Given the description of an element on the screen output the (x, y) to click on. 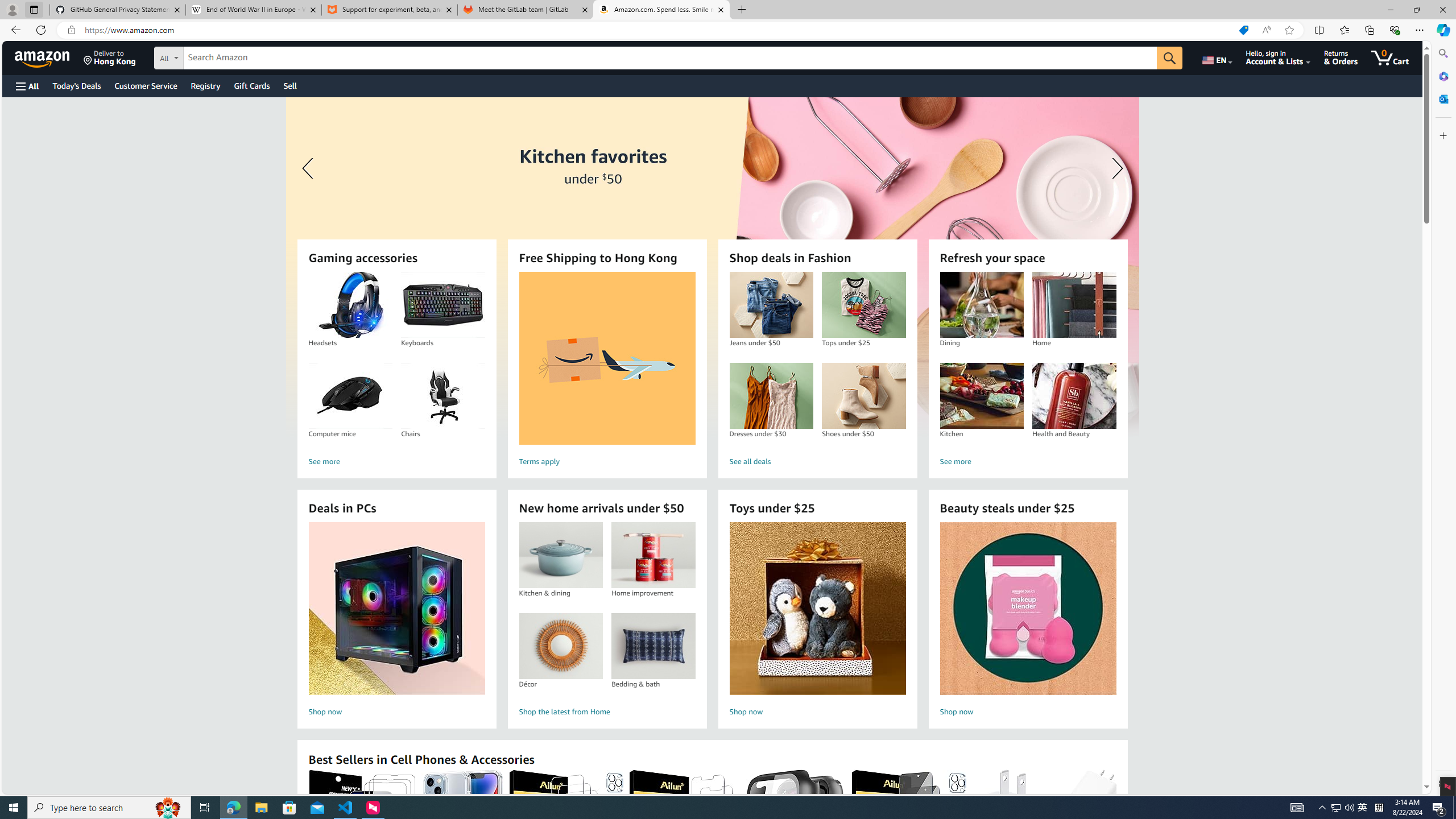
Dresses under $30 (770, 395)
Shop Kitchen favorites (711, 267)
Search in (210, 56)
Chairs (442, 395)
Beauty steals under $25 Shop now (1028, 620)
Kitchen (981, 395)
Customize (1442, 135)
Open Menu (26, 86)
Next slide (1114, 168)
Previous slide (309, 168)
Settings (1442, 783)
Search Amazon (670, 57)
